Given the description of an element on the screen output the (x, y) to click on. 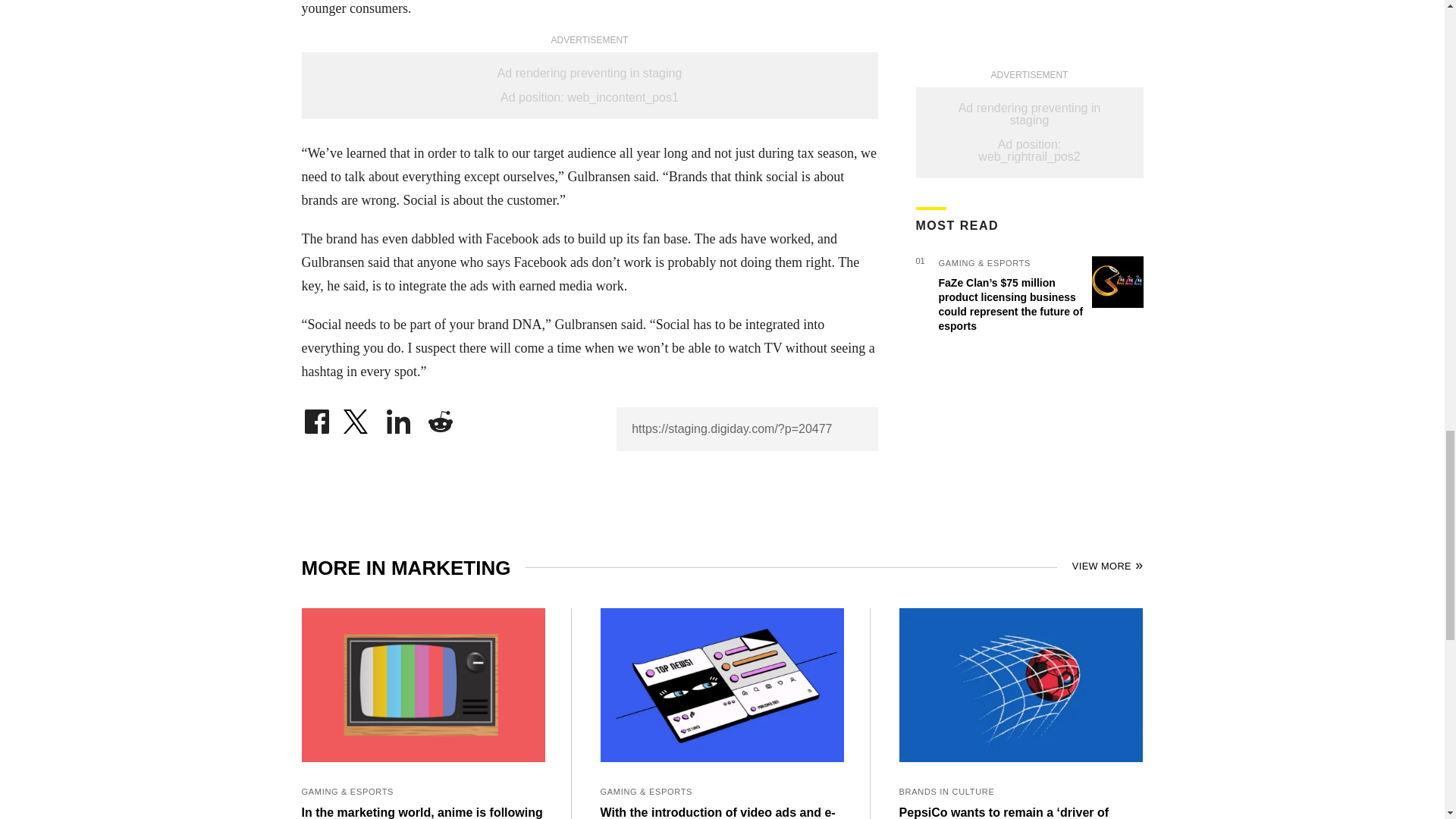
Share on Reddit (440, 417)
Share on Facebook (316, 417)
Share on LinkedIn (398, 417)
Share on Twitter (357, 417)
